Given the description of an element on the screen output the (x, y) to click on. 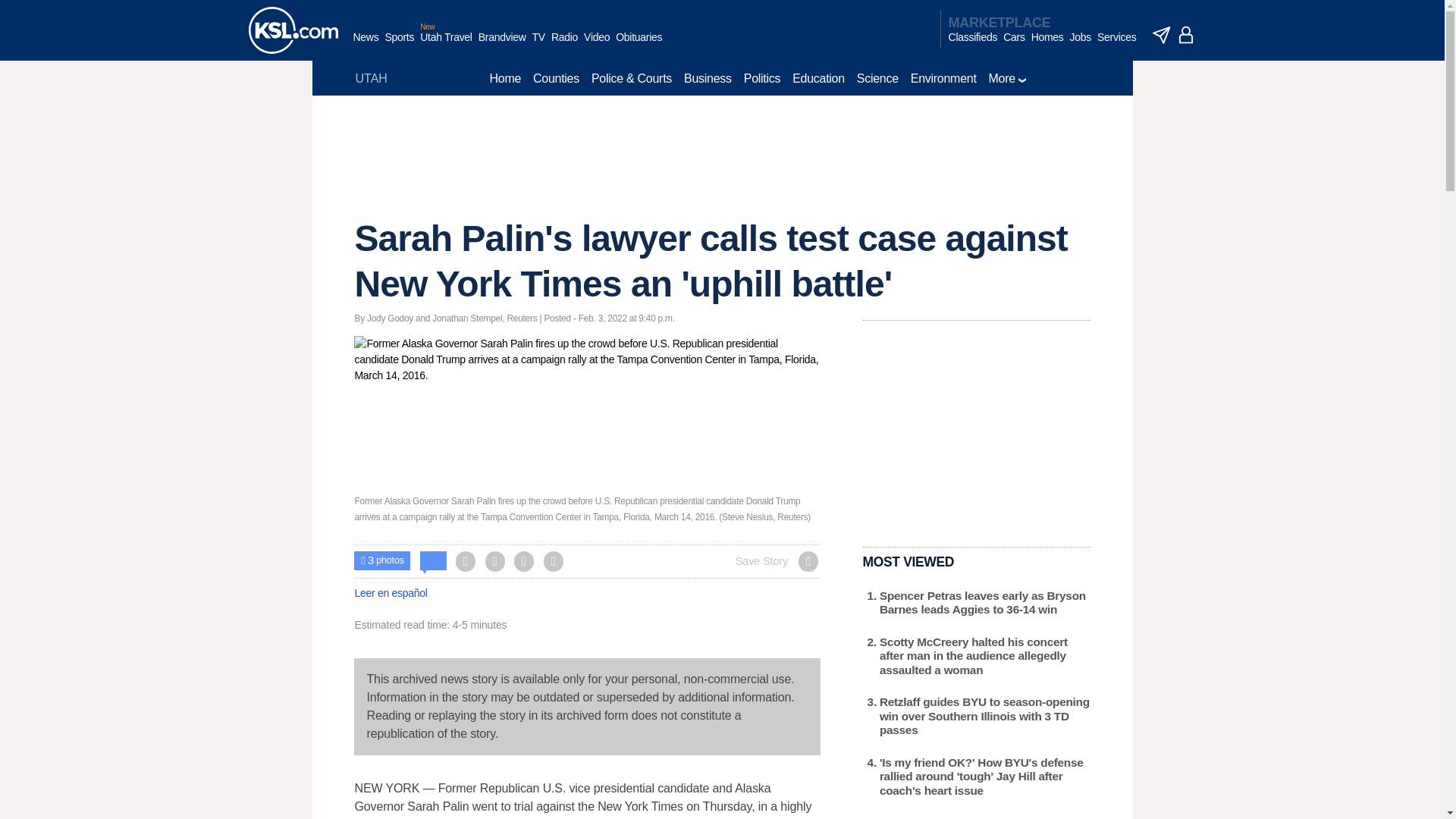
Utah Travel (445, 45)
KSL homepage (292, 30)
account - logged out (1185, 34)
Sports (398, 45)
KSL homepage (292, 29)
Brandview (502, 45)
